Given the description of an element on the screen output the (x, y) to click on. 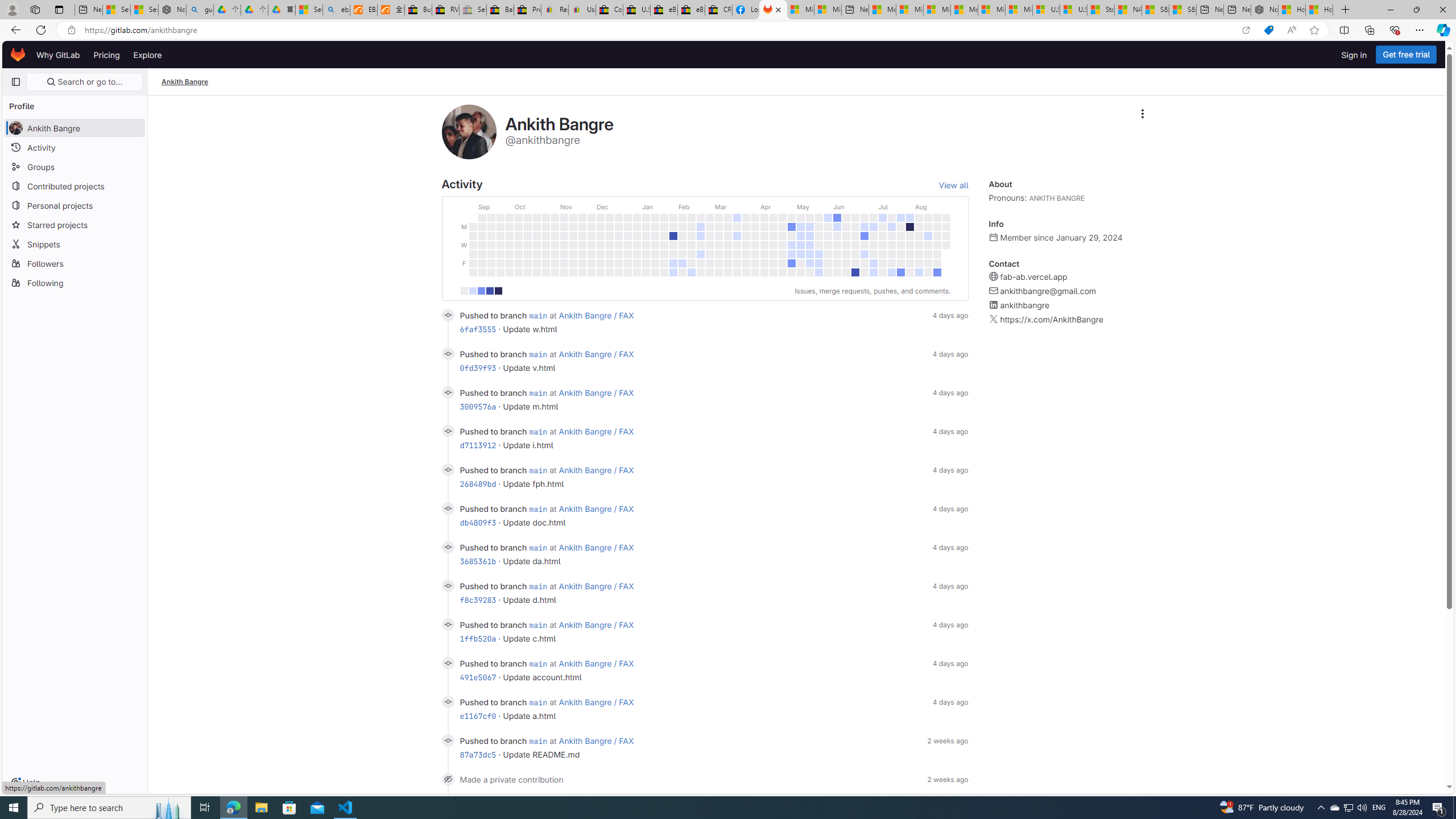
Microsoft account | Home (936, 9)
Snippets (74, 244)
Pricing (106, 54)
